Given the description of an element on the screen output the (x, y) to click on. 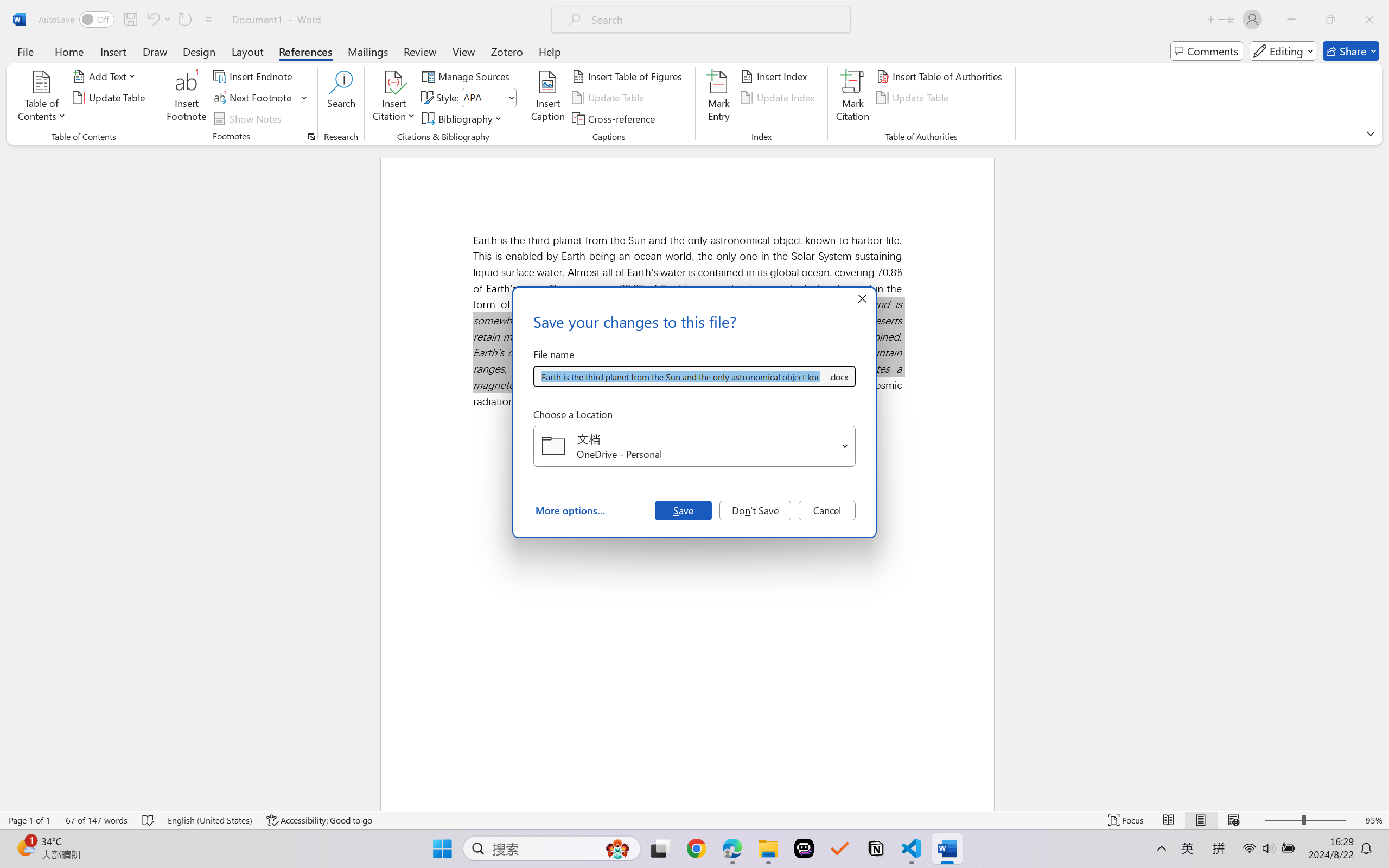
Undo Italic (152, 19)
Insert Index... (775, 75)
Page Number Page 1 of 1 (29, 819)
Undo Italic (158, 19)
Poe (804, 848)
